Given the description of an element on the screen output the (x, y) to click on. 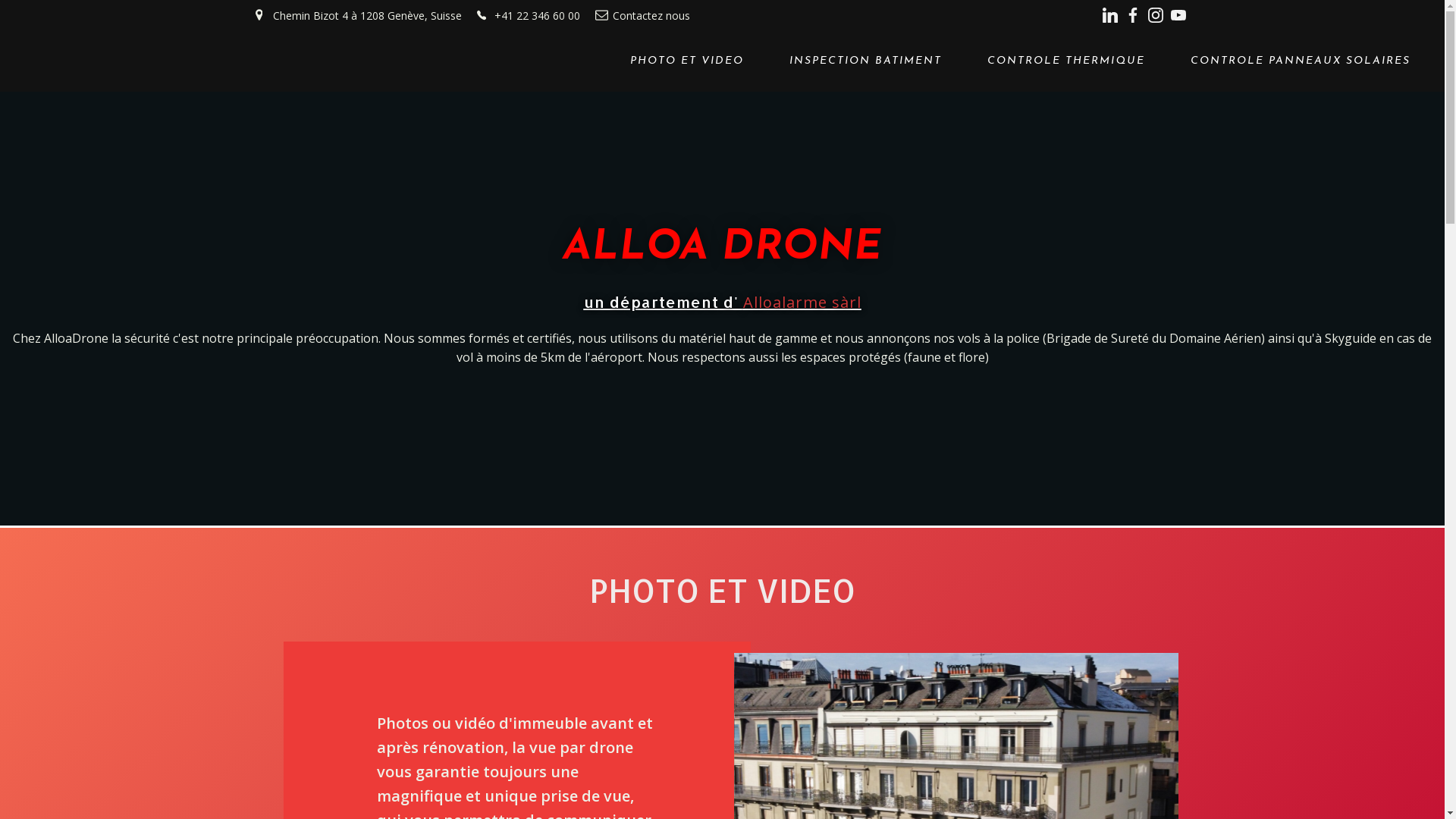
CONTROLE PANNEAUX SOLAIRES Element type: text (1300, 61)
Contactez nous Element type: text (641, 14)
+41 22 346 60 00 Element type: text (527, 14)
CONTROLE THERMIQUE Element type: text (1066, 61)
PHOTO ET VIDEO Element type: text (686, 61)
INSPECTION BATIMENT Element type: text (865, 61)
